Given the description of an element on the screen output the (x, y) to click on. 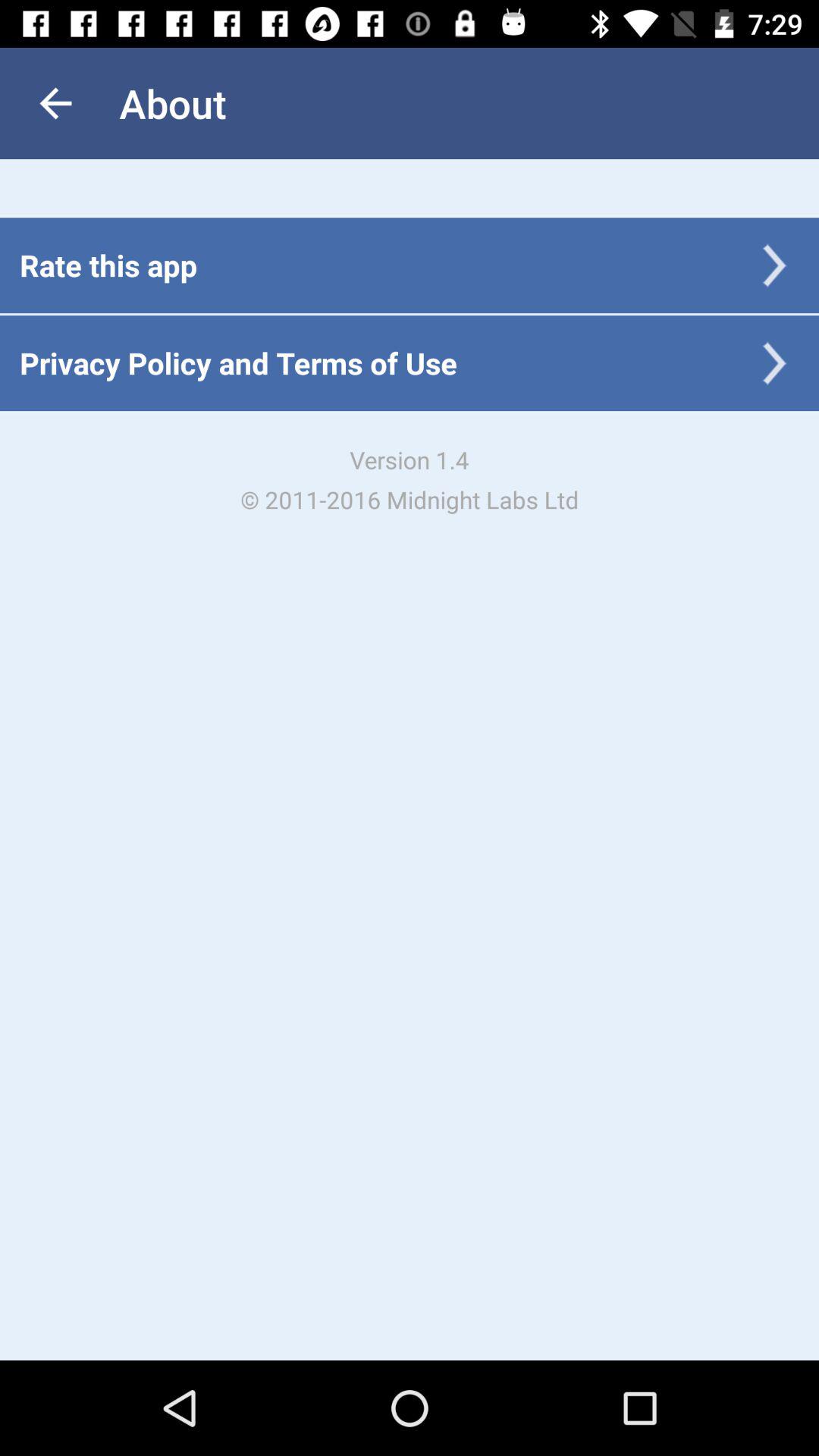
launch the version 1 4 (409, 479)
